Given the description of an element on the screen output the (x, y) to click on. 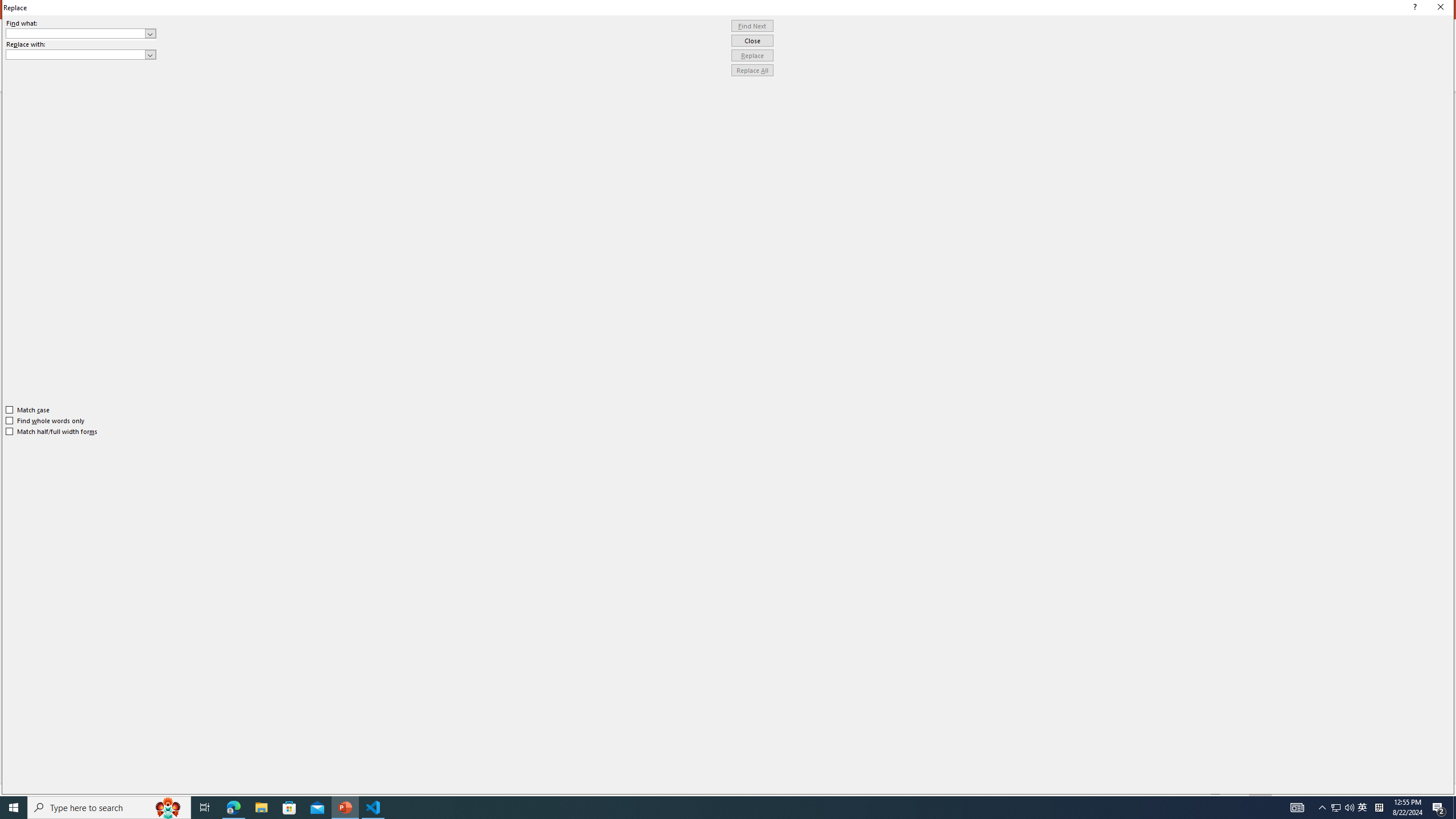
Context help (1413, 8)
Replace with (80, 54)
Replace (752, 55)
Match half/full width forms (52, 431)
Replace All (752, 69)
Find Next (752, 25)
Replace with (75, 53)
Find whole words only (45, 420)
Find what (75, 33)
Match case (27, 409)
Find what (80, 33)
